Given the description of an element on the screen output the (x, y) to click on. 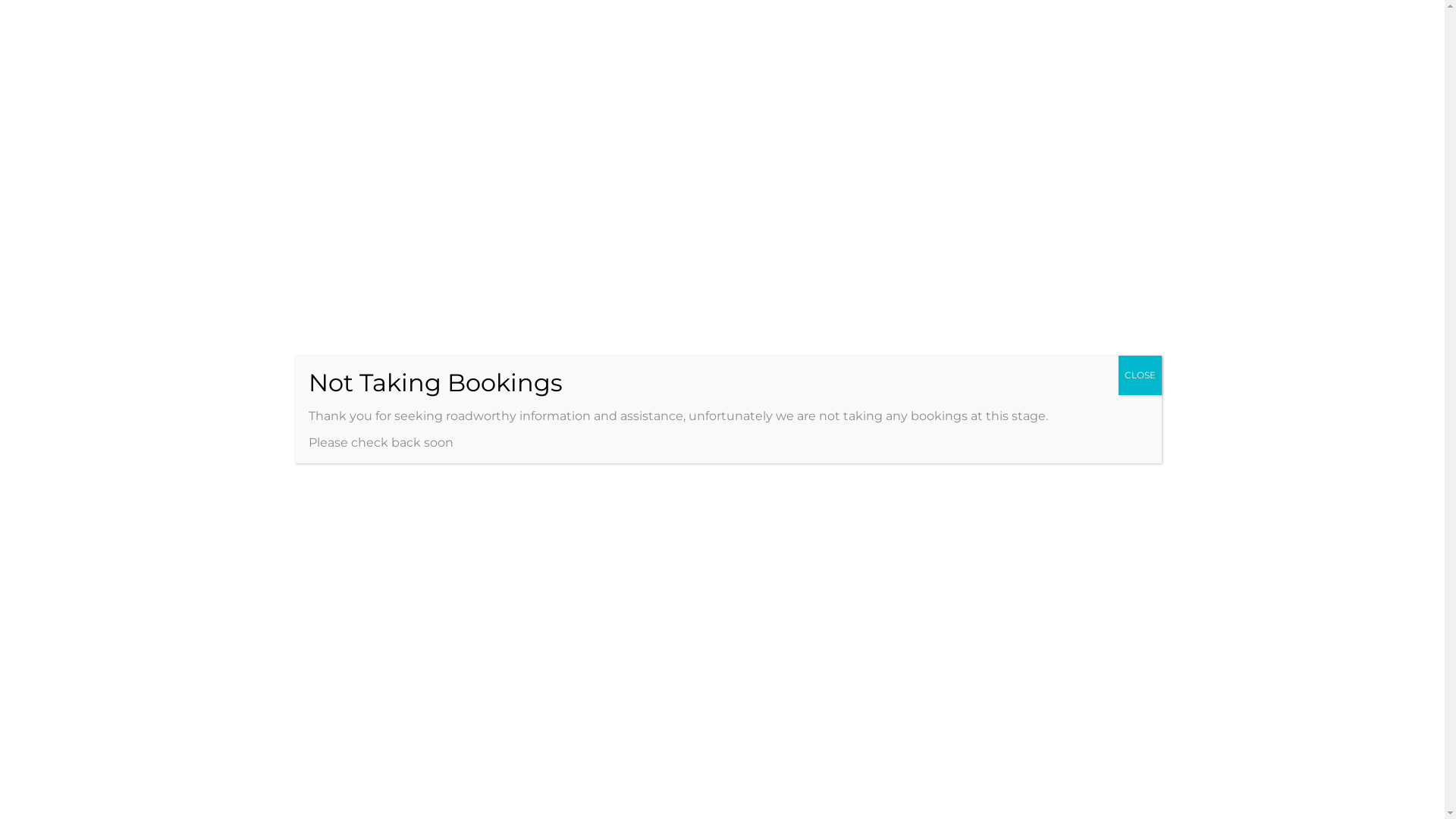
Call us: 1300 000 111 Element type: text (1097, 316)
Open toolbar
Accessibility Tools Element type: text (19, 95)
HOME Element type: text (798, 24)
Roadworthy & Safety Certificates Element type: text (1096, 776)
ABOUT US Element type: text (865, 24)
GET QUOTE Element type: text (1097, 637)
SERVICES Element type: text (950, 24)
LOCATIONS Element type: text (1046, 24)
CLOSE Element type: text (1139, 375)
CONTACT Element type: text (1184, 24)
BLOG Element type: text (1122, 24)
